Given the description of an element on the screen output the (x, y) to click on. 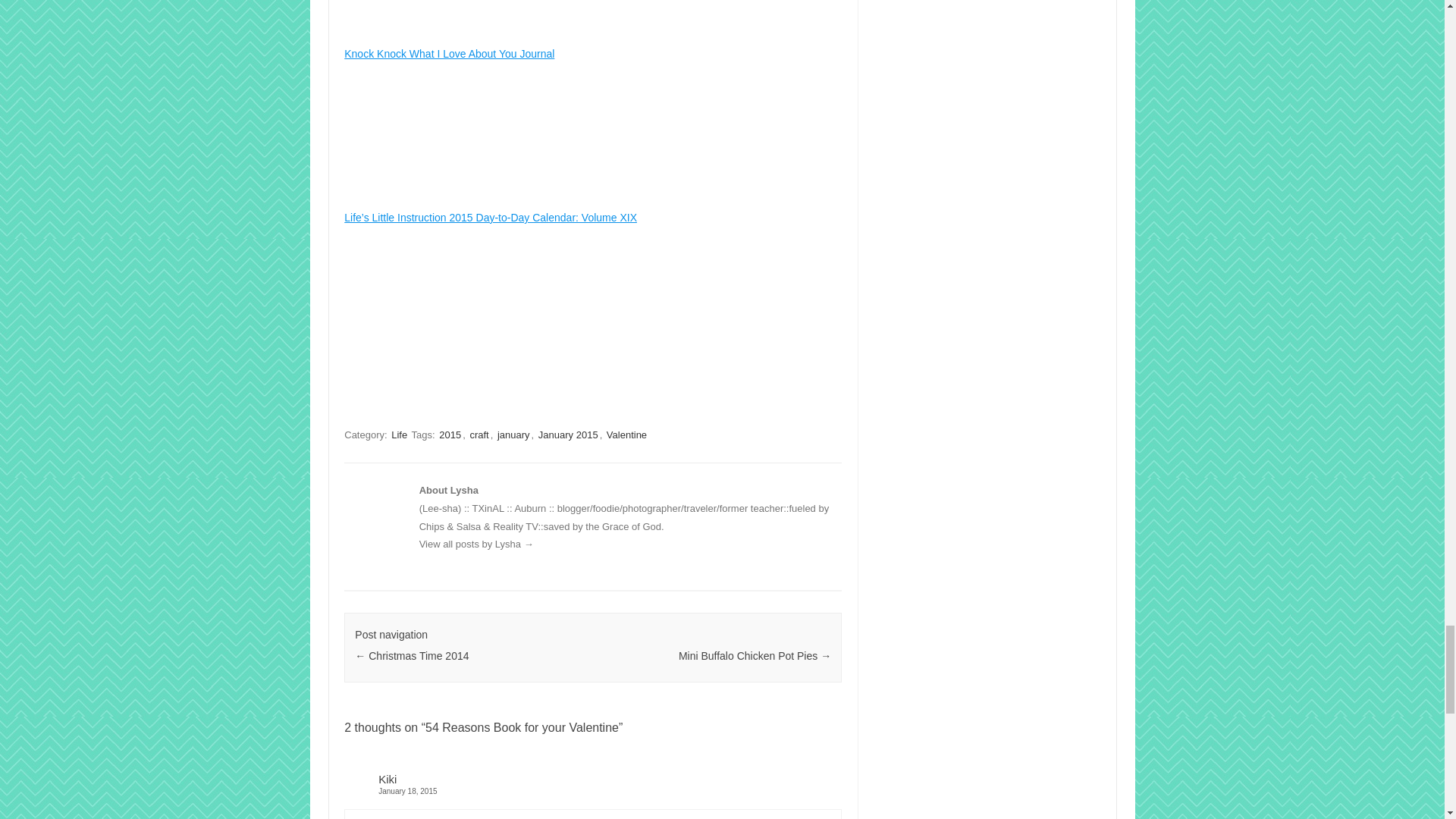
January 2015 (568, 434)
2015 (450, 434)
craft (478, 434)
january (513, 434)
Knock Knock What I Love About You Journal (592, 29)
Valentine (626, 434)
Kiki (387, 779)
January 18, 2015 (592, 790)
Life (399, 434)
